Given the description of an element on the screen output the (x, y) to click on. 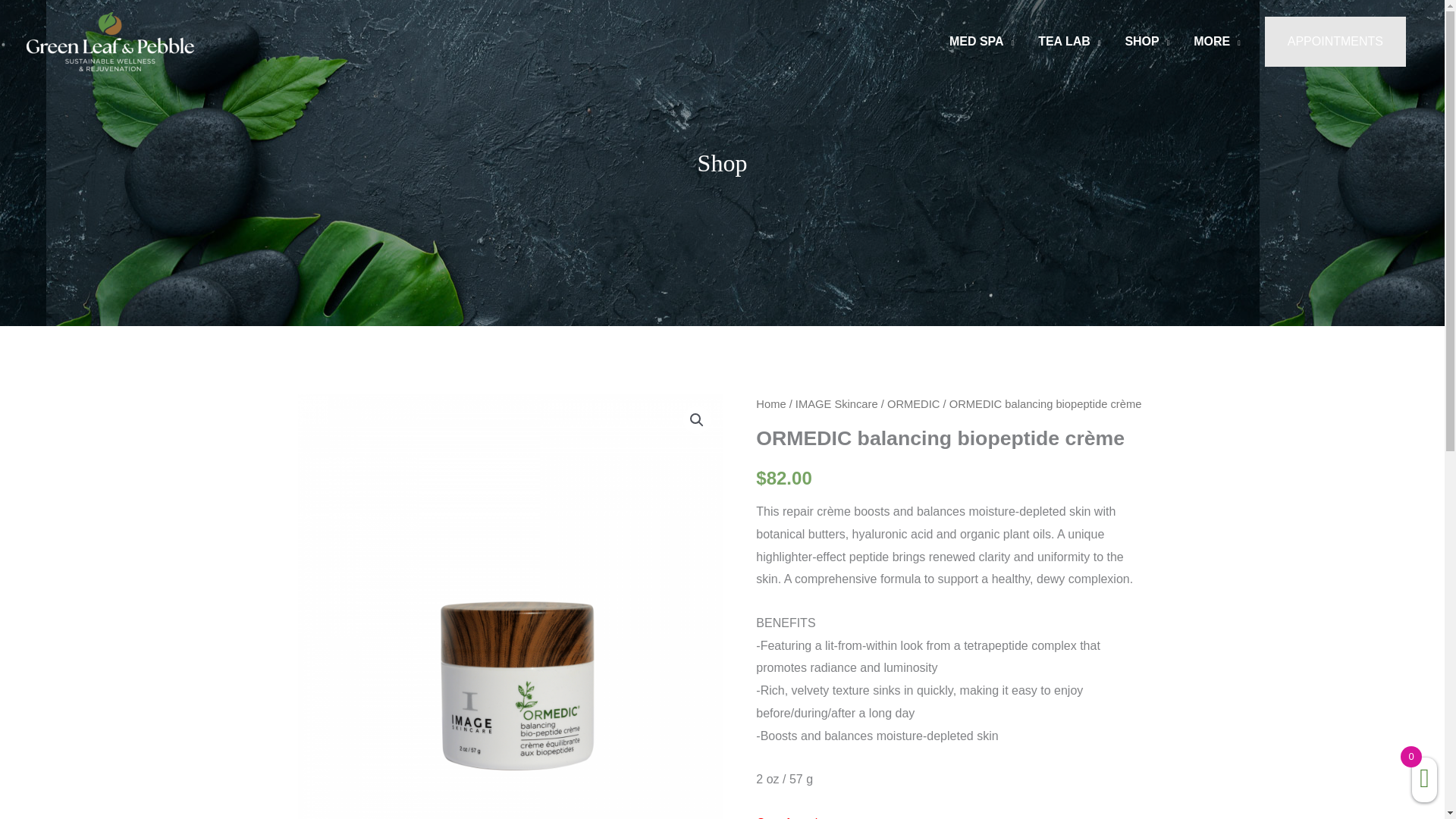
Home (770, 404)
MED SPA (981, 41)
TEA LAB (1069, 41)
IMAGE Skincare (835, 404)
APPOINTMENTS (1335, 41)
ORMEDIC (913, 404)
